Given the description of an element on the screen output the (x, y) to click on. 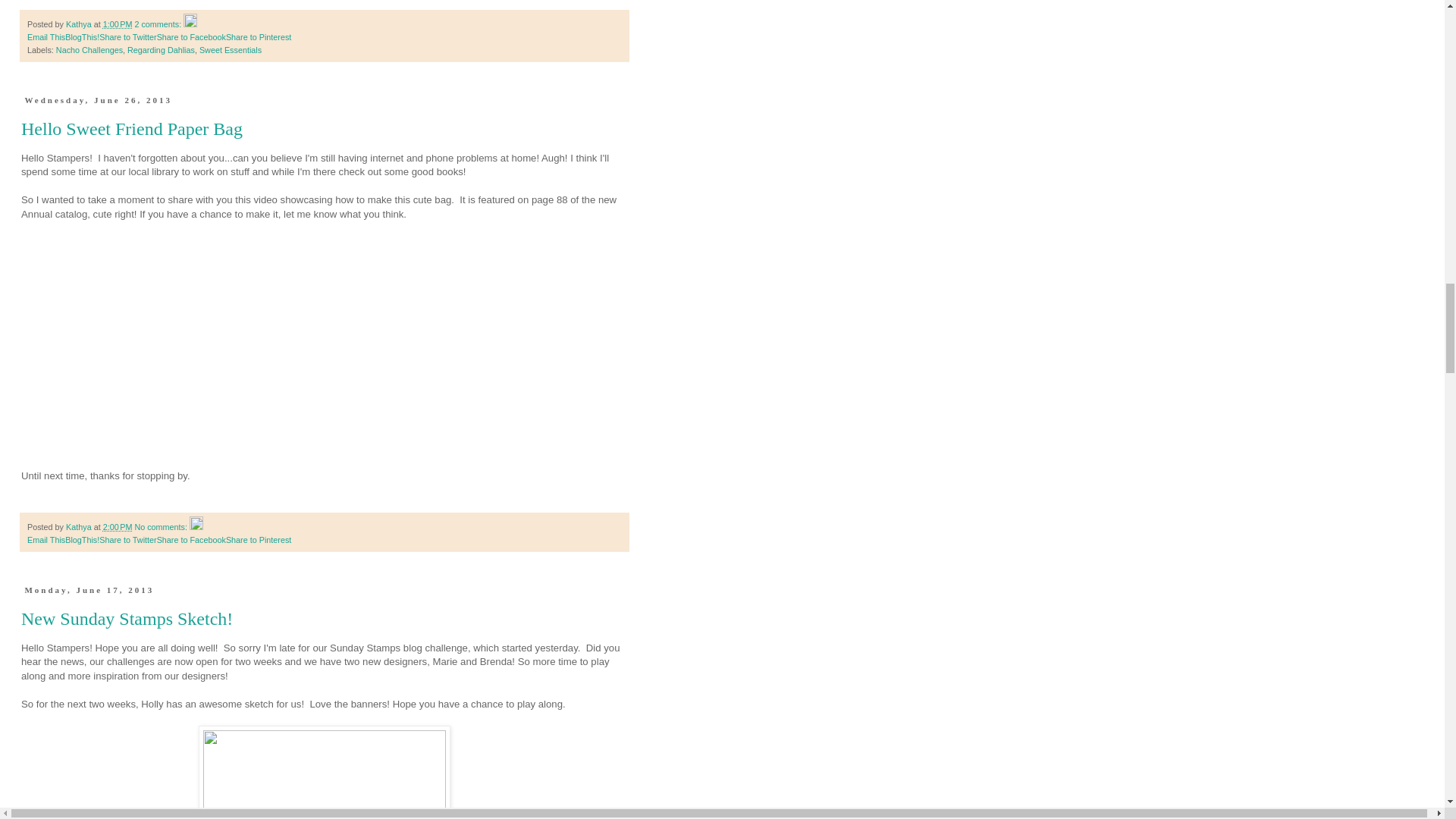
Email This (46, 36)
BlogThis! (82, 36)
Kathya (79, 23)
Email This (46, 36)
BlogThis! (82, 36)
permanent link (117, 23)
Share to Twitter (127, 36)
author profile (79, 23)
Share to Facebook (191, 36)
2 comments: (158, 23)
Edit Post (189, 23)
